Given the description of an element on the screen output the (x, y) to click on. 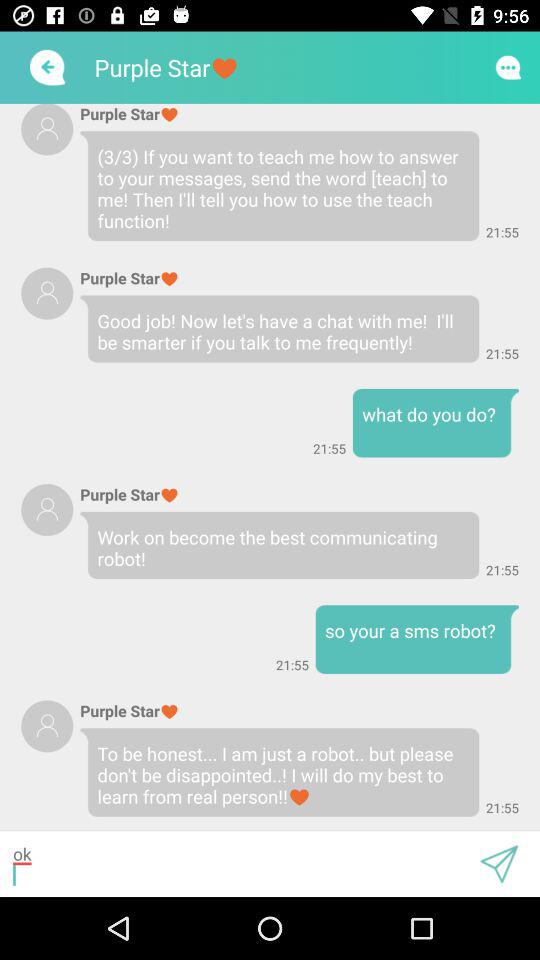
view user profile (47, 726)
